Given the description of an element on the screen output the (x, y) to click on. 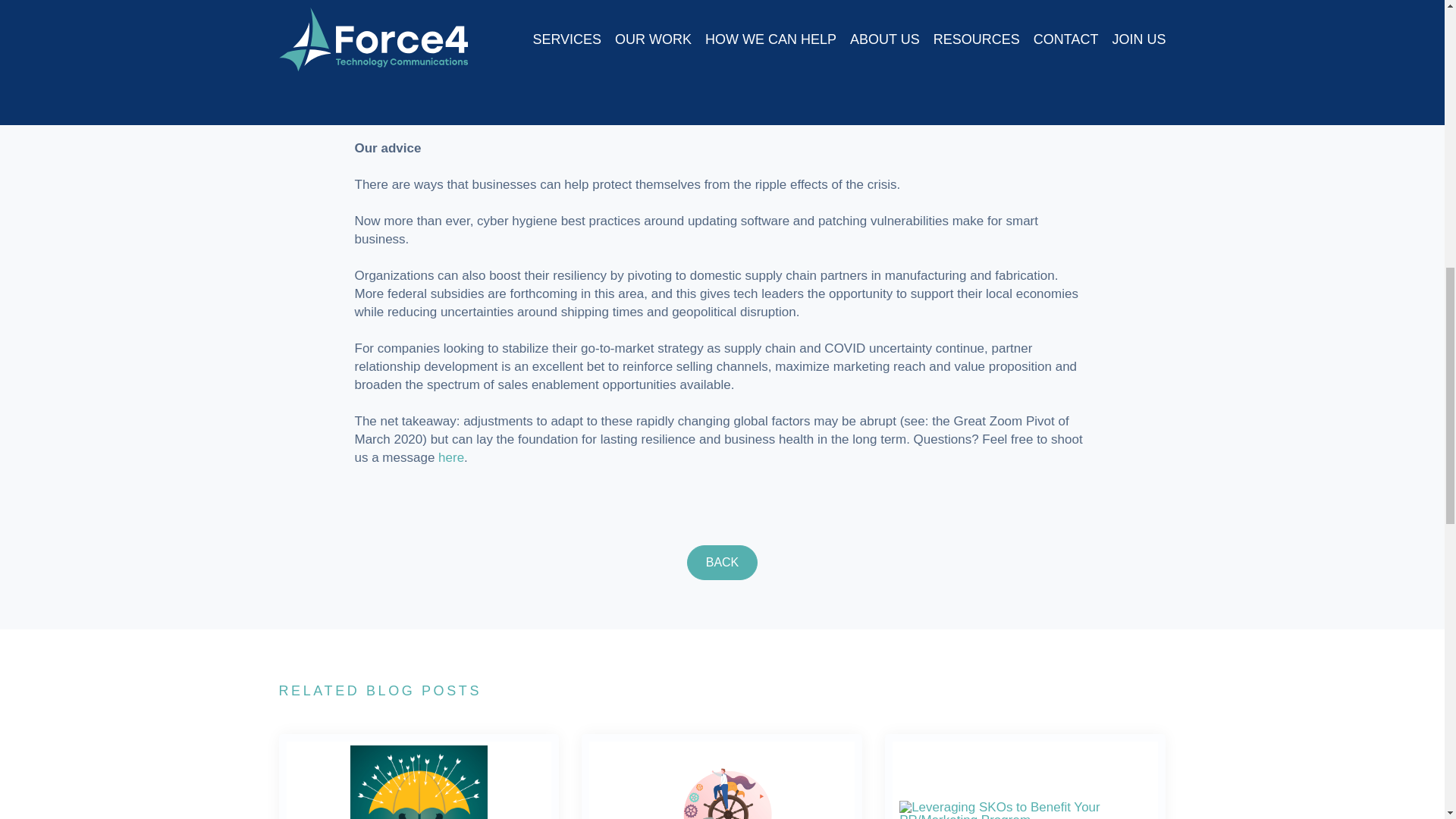
here (451, 457)
BACK (722, 562)
